Given the description of an element on the screen output the (x, y) to click on. 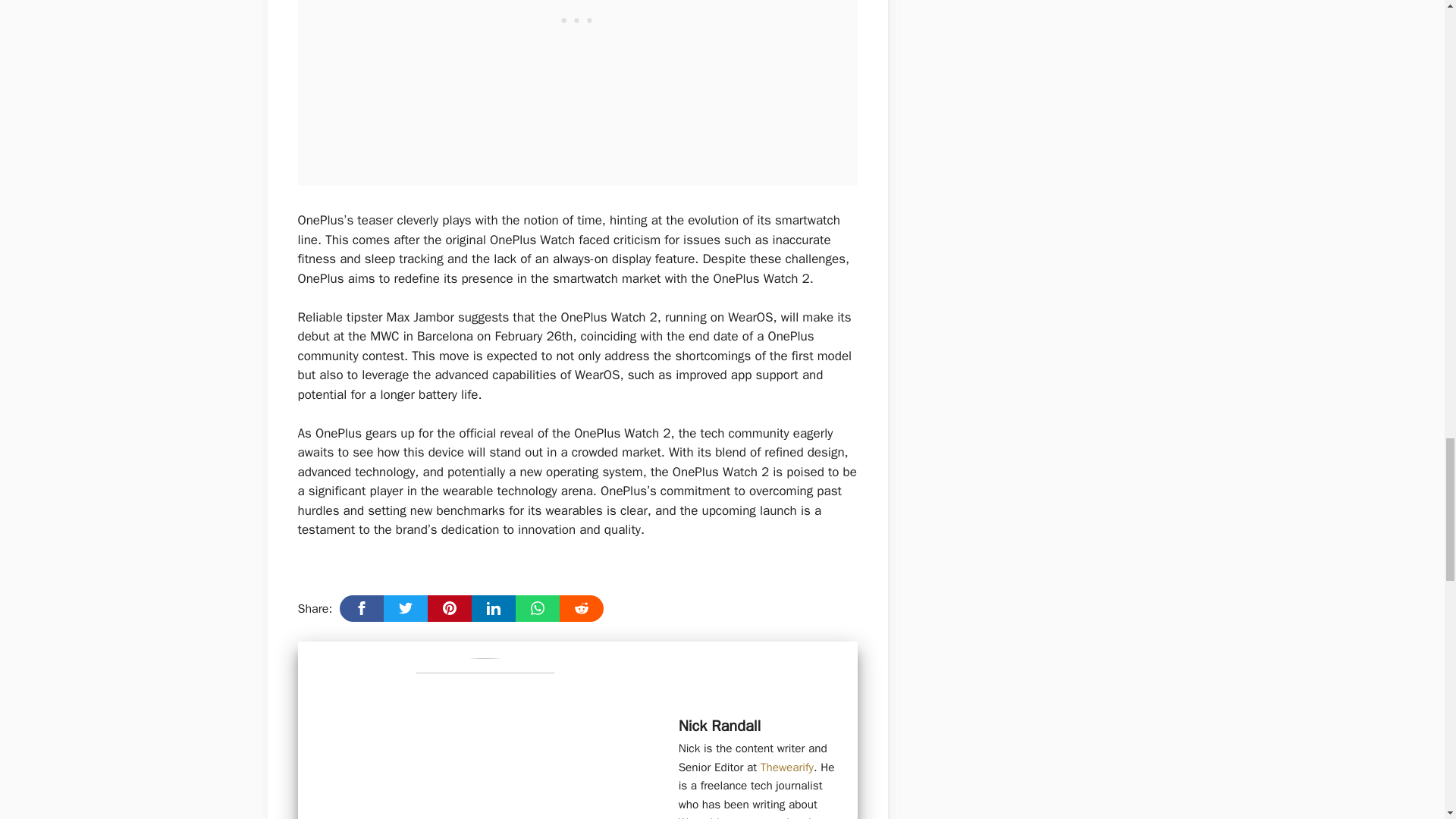
Thewearify (786, 767)
